Given the description of an element on the screen output the (x, y) to click on. 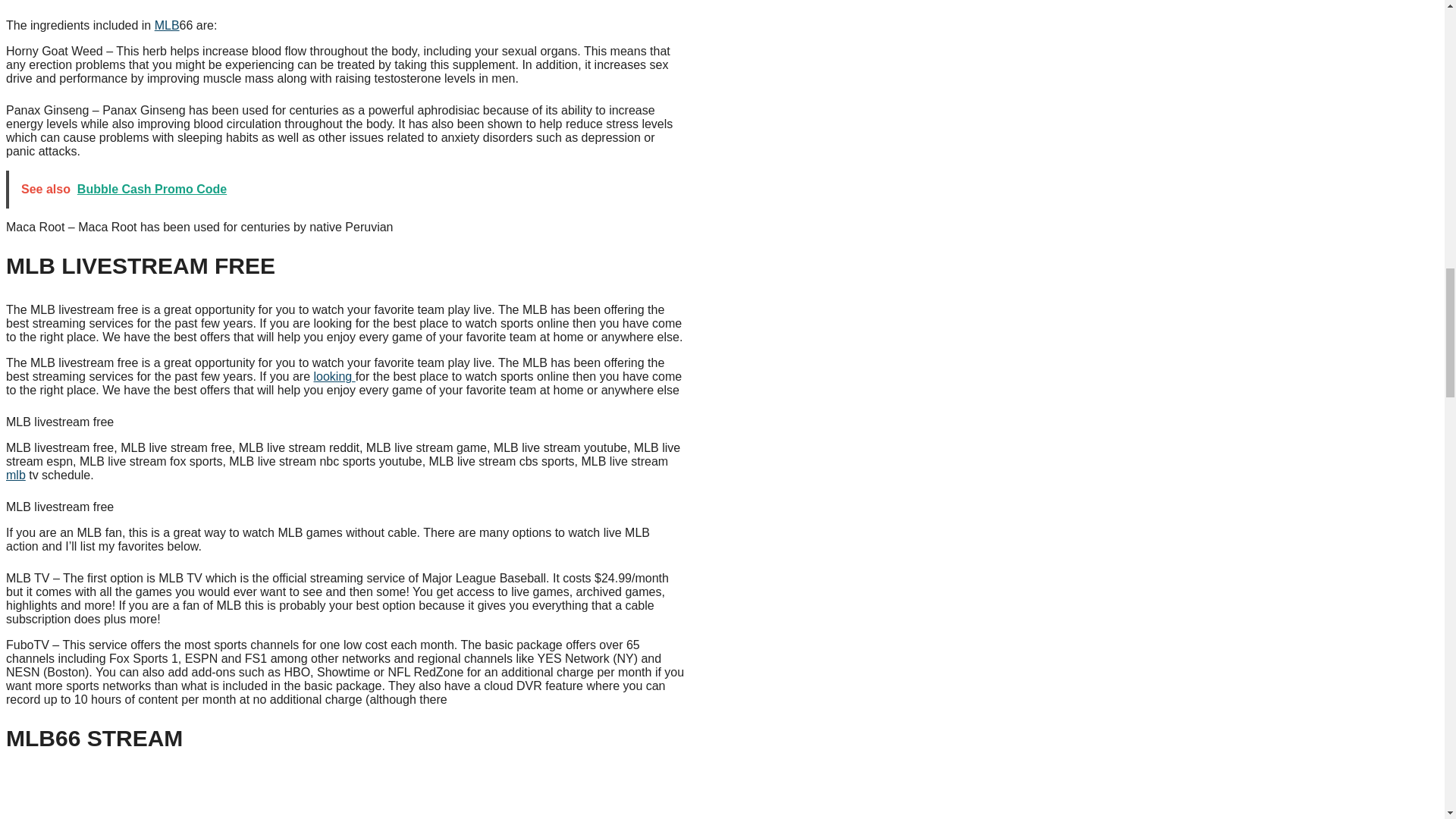
looking (334, 376)
MLB (166, 24)
mlb (15, 474)
See also  Bubble Cash Promo Code (346, 189)
